Given the description of an element on the screen output the (x, y) to click on. 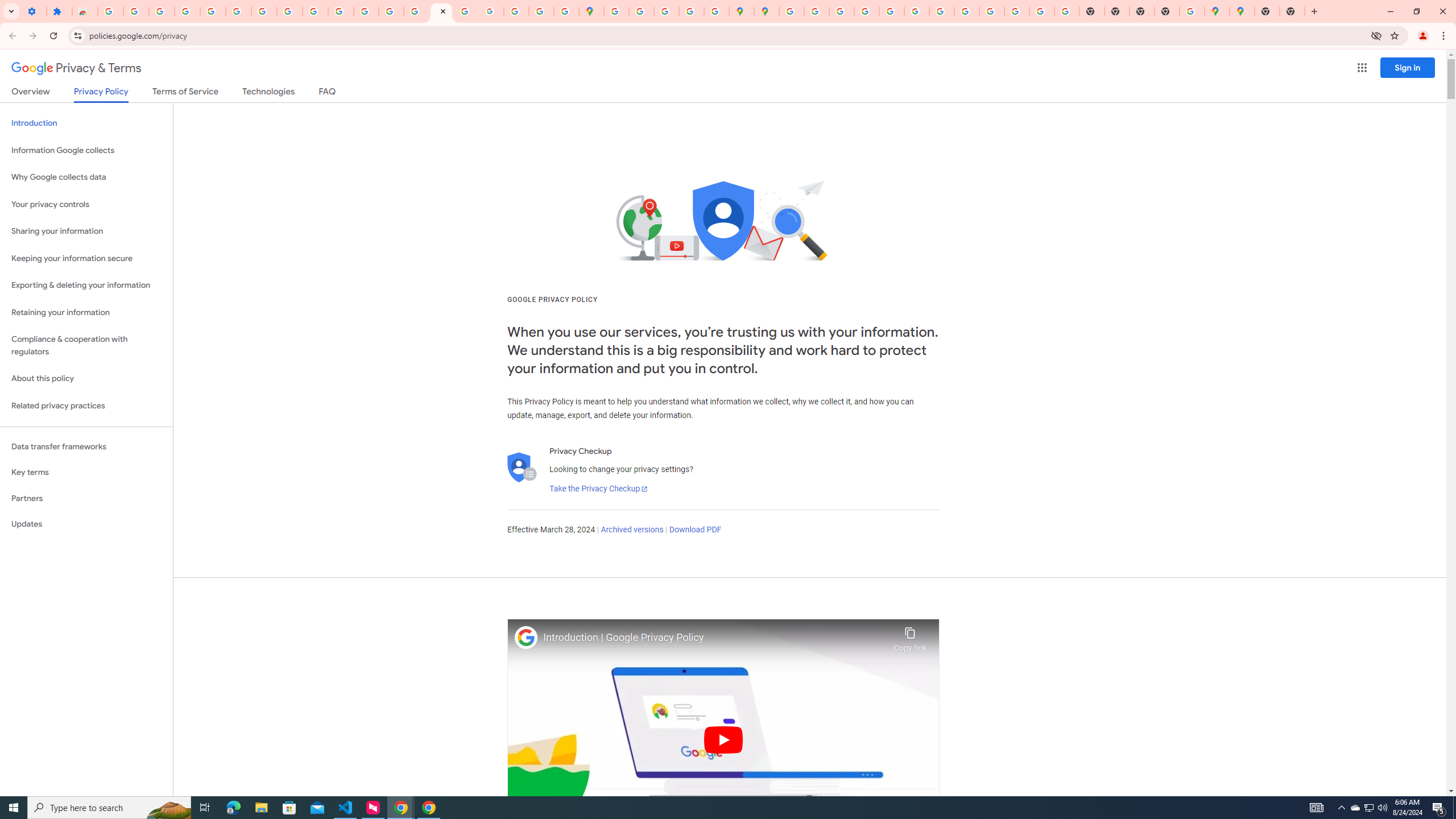
YouTube (941, 11)
Safety in Our Products - Google Safety Center (715, 11)
Sign in - Google Accounts (110, 11)
Google Maps (1216, 11)
Archived versions (631, 529)
Learn how to find your photos - Google Photos Help (161, 11)
Reviews: Helix Fruit Jump Arcade Game (84, 11)
Play (723, 739)
Delete photos & videos - Computer - Google Photos Help (135, 11)
Keeping your information secure (86, 258)
